Given the description of an element on the screen output the (x, y) to click on. 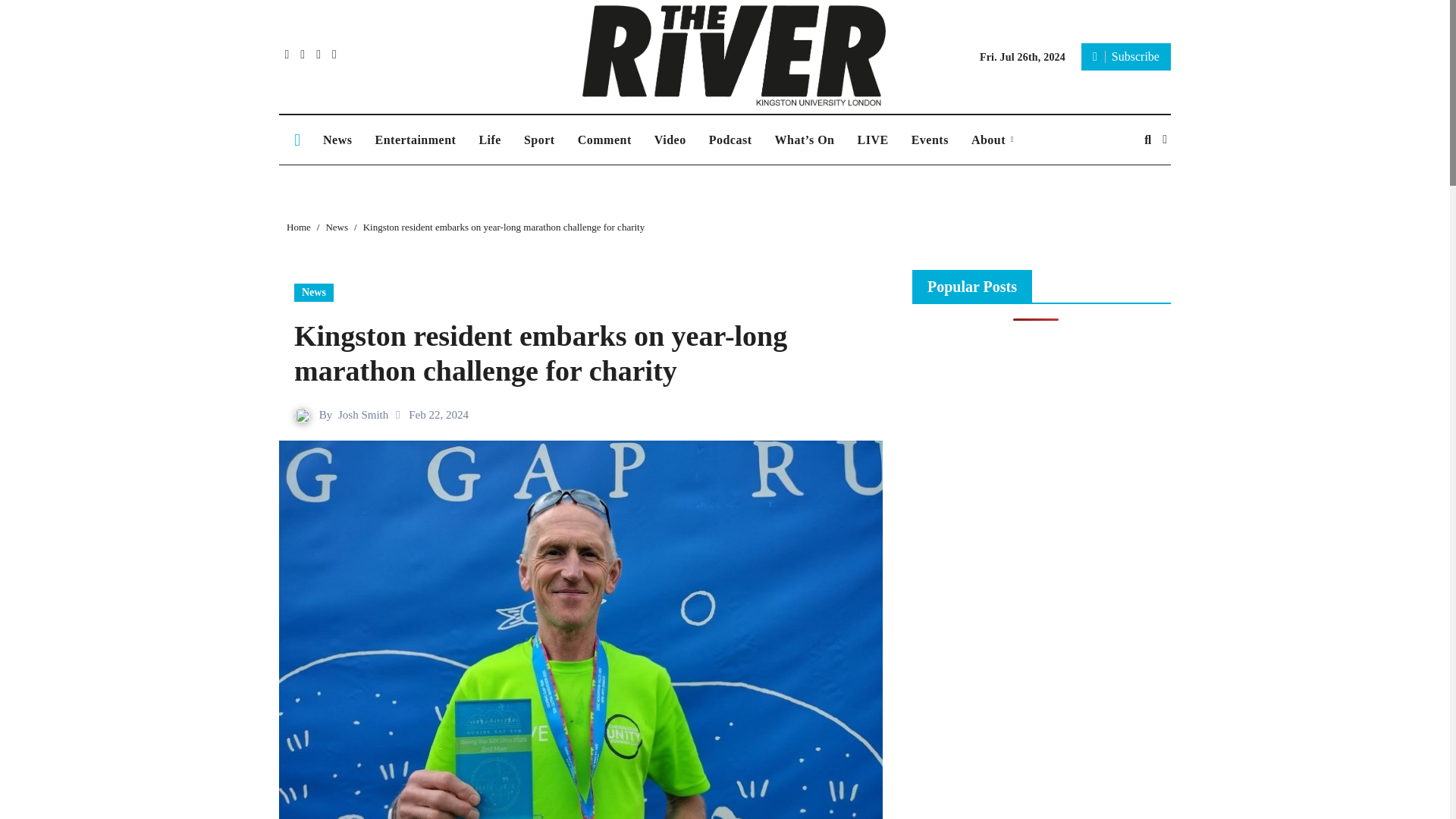
News (336, 139)
News (313, 292)
Sport (539, 139)
News (336, 139)
Podcast (729, 139)
Entertainment (414, 139)
Life (489, 139)
Events (929, 139)
Video (670, 139)
LIVE (872, 139)
